Given the description of an element on the screen output the (x, y) to click on. 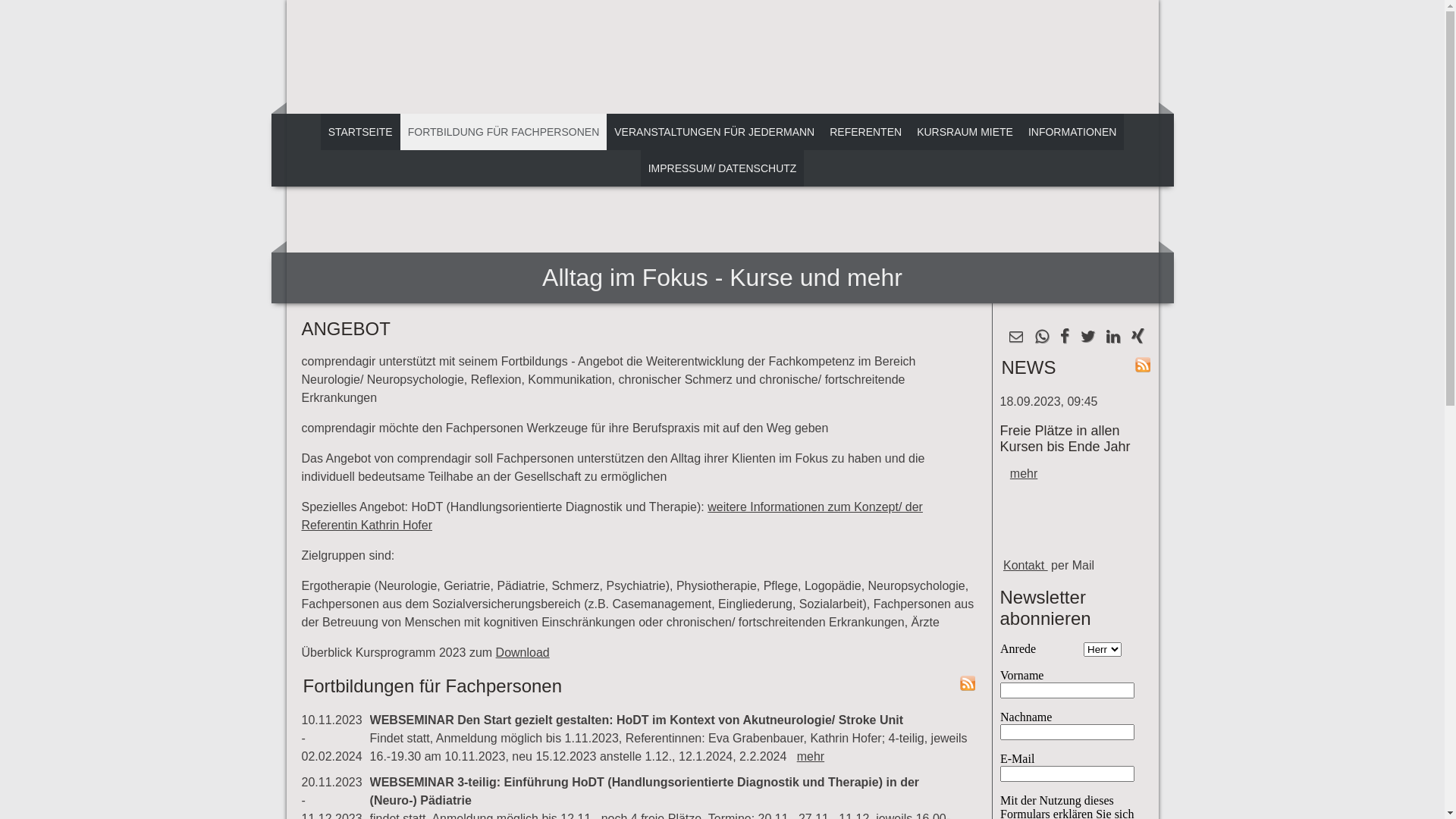
KURSRAUM MIETE Element type: text (964, 131)
WhatsApp Element type: hover (1041, 337)
mehr Element type: text (1023, 473)
mehr Element type: text (810, 755)
Twitter Element type: hover (1087, 337)
STARTSEITE Element type: text (360, 131)
REFERENTEN Element type: text (865, 131)
Xing Element type: hover (1136, 337)
Download Element type: text (522, 652)
  Element type: text (722, 56)
E-mail Element type: hover (1015, 337)
IMPRESSUM/ DATENSCHUTZ Element type: text (722, 168)
INFORMATIONEN Element type: text (1071, 131)
Kontakt  Element type: text (1025, 564)
Facebook Element type: hover (1064, 337)
LinkedIn Element type: hover (1112, 337)
